Given the description of an element on the screen output the (x, y) to click on. 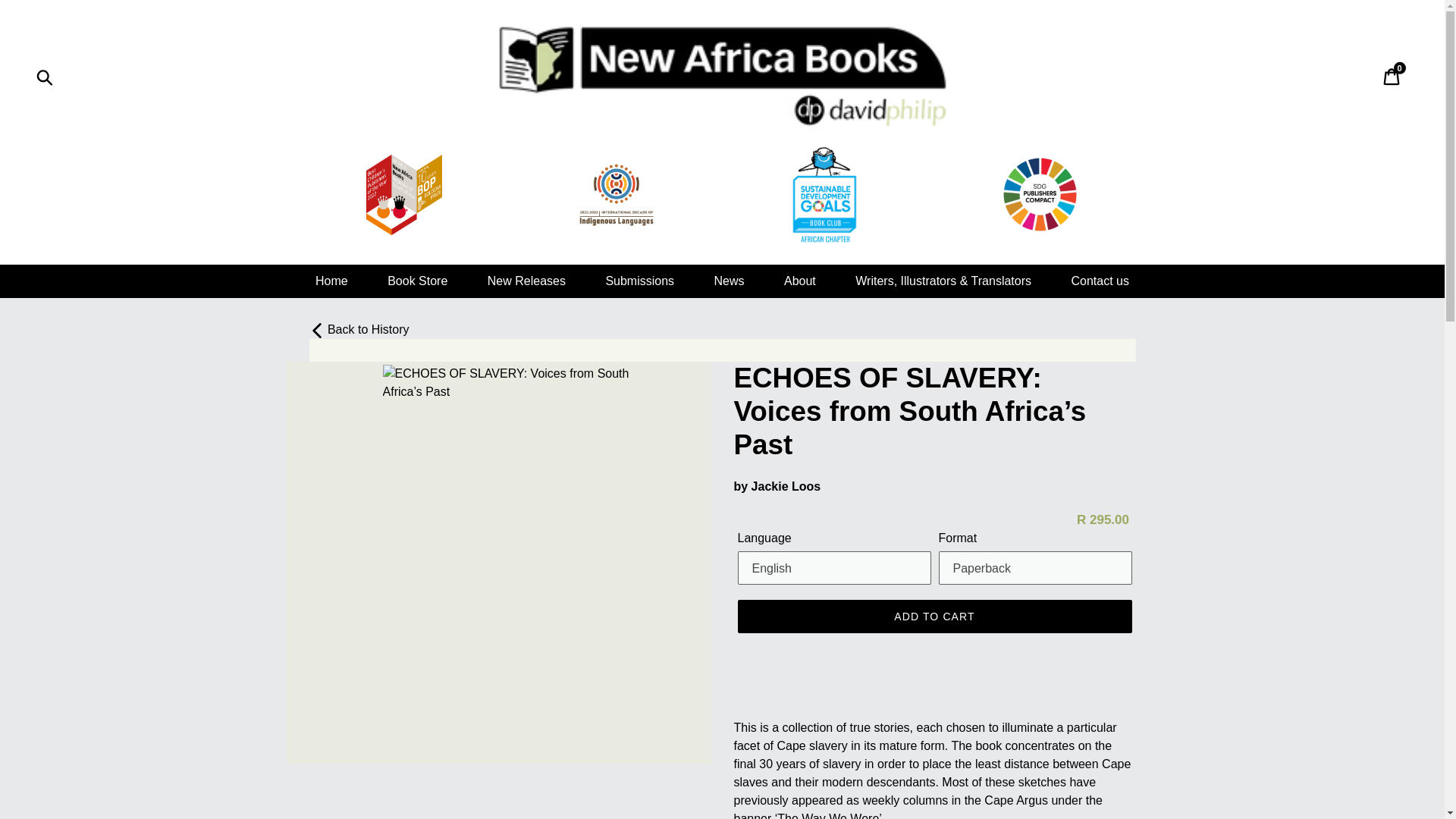
Book Store (417, 281)
Home (330, 281)
Back to History (358, 328)
Bologna Childrens Book Fair (404, 194)
Submissions (638, 281)
Contact us (1098, 281)
New Releases (525, 281)
SDG Publishers Compact (1040, 194)
Submit (45, 76)
News (729, 281)
